Given the description of an element on the screen output the (x, y) to click on. 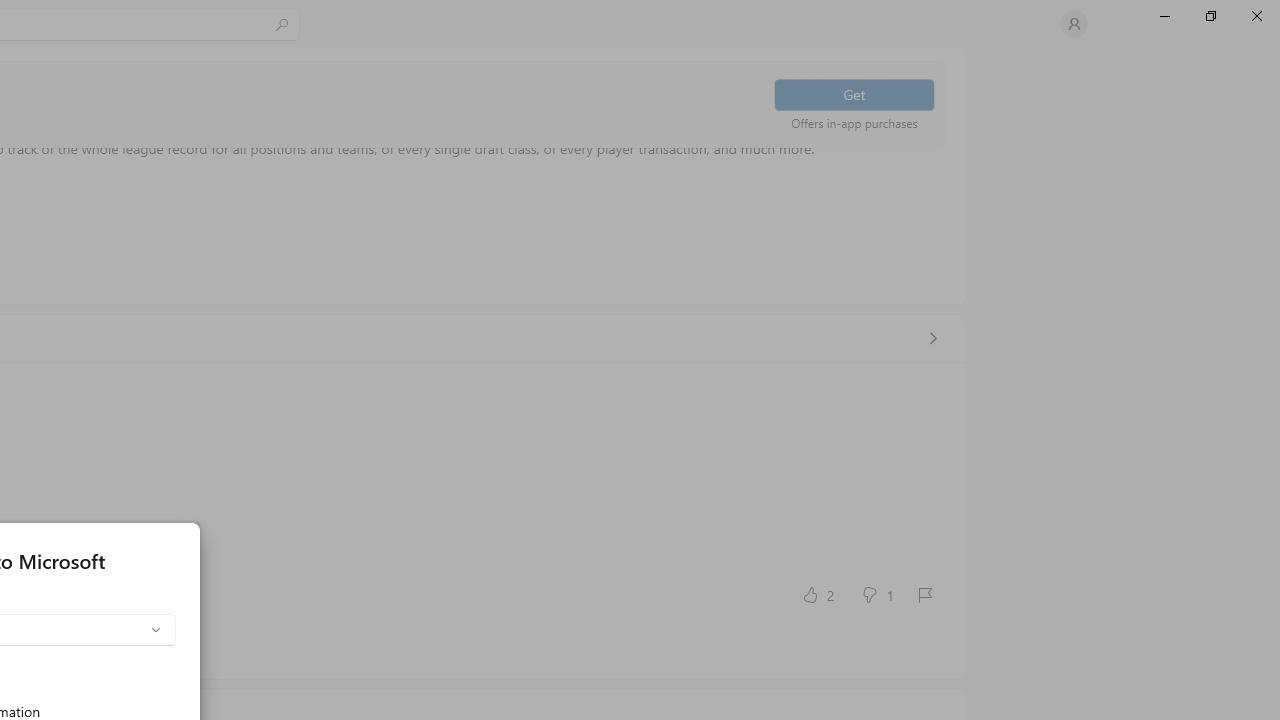
Get (854, 94)
No, this was not helpful. 1 votes. (875, 593)
Yes, this was helpful. 2 votes. (816, 593)
Show all ratings and reviews (932, 337)
Report review (924, 594)
